Given the description of an element on the screen output the (x, y) to click on. 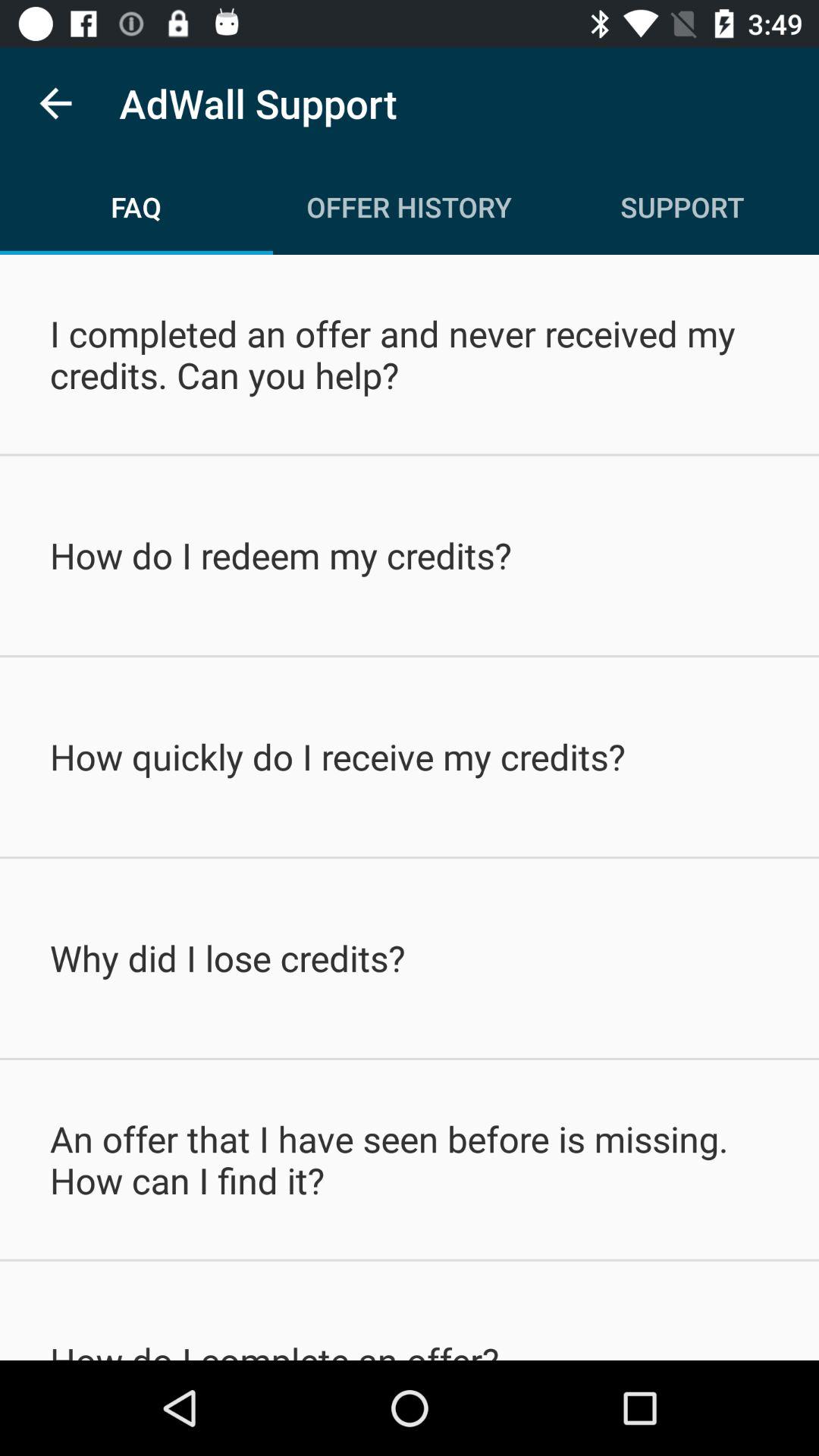
open the icon above the faq icon (55, 103)
